Given the description of an element on the screen output the (x, y) to click on. 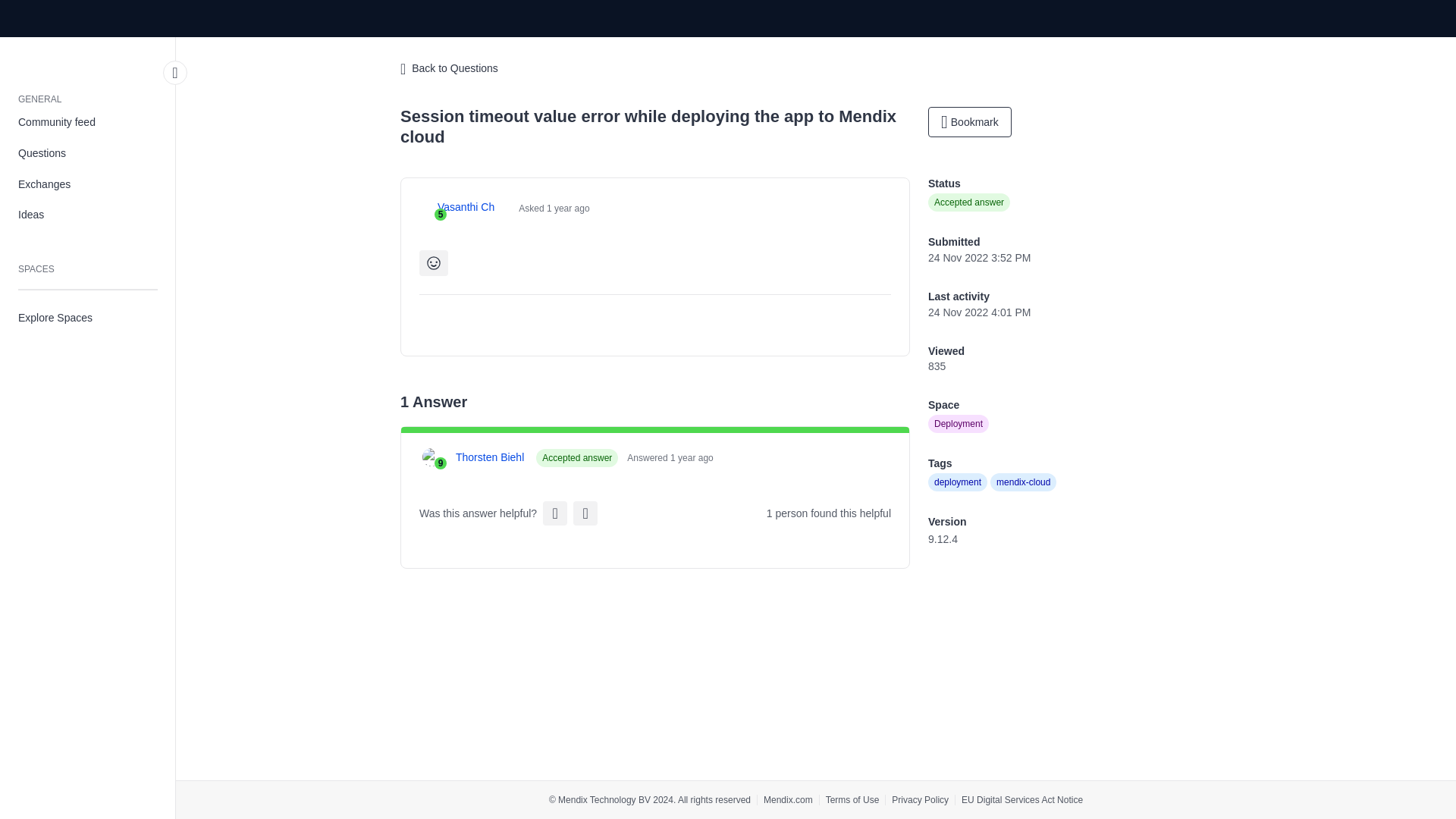
Collapse Menu (175, 72)
Vasanthi Ch (466, 207)
Mendix.com (787, 799)
Terms of Use (852, 799)
Deployment (958, 423)
Back to Questions (448, 68)
Questions (87, 153)
EU Digital Services Act Notice (1021, 799)
Explore Spaces (87, 317)
Thorsten Biehl (489, 457)
